Given the description of an element on the screen output the (x, y) to click on. 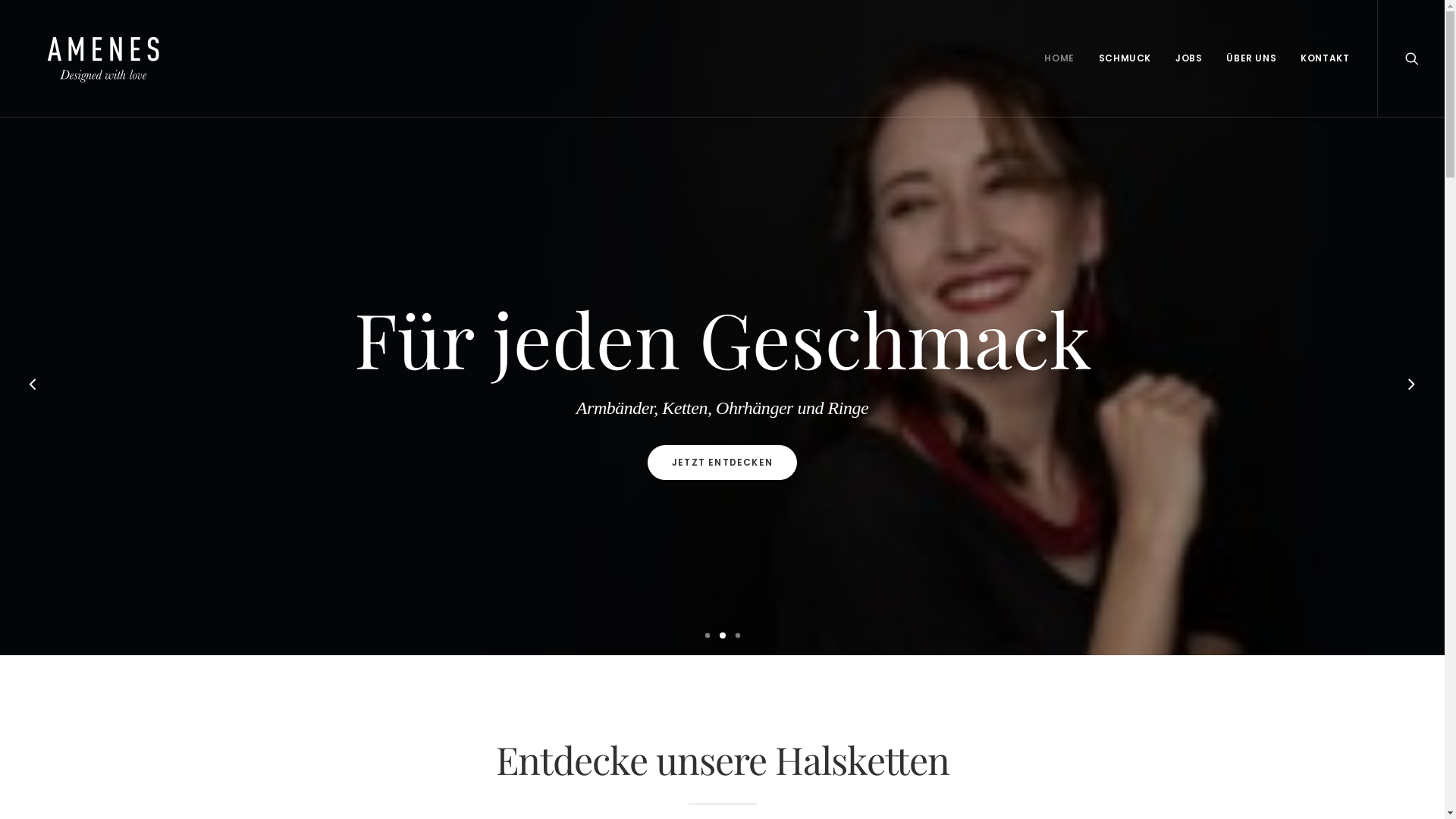
HOME Element type: text (1058, 58)
KONTAKT Element type: text (1319, 58)
JOBS Element type: text (1188, 58)
JETZT ENTDECKEN Element type: text (722, 461)
SCHMUCK Element type: text (1124, 58)
